Given the description of an element on the screen output the (x, y) to click on. 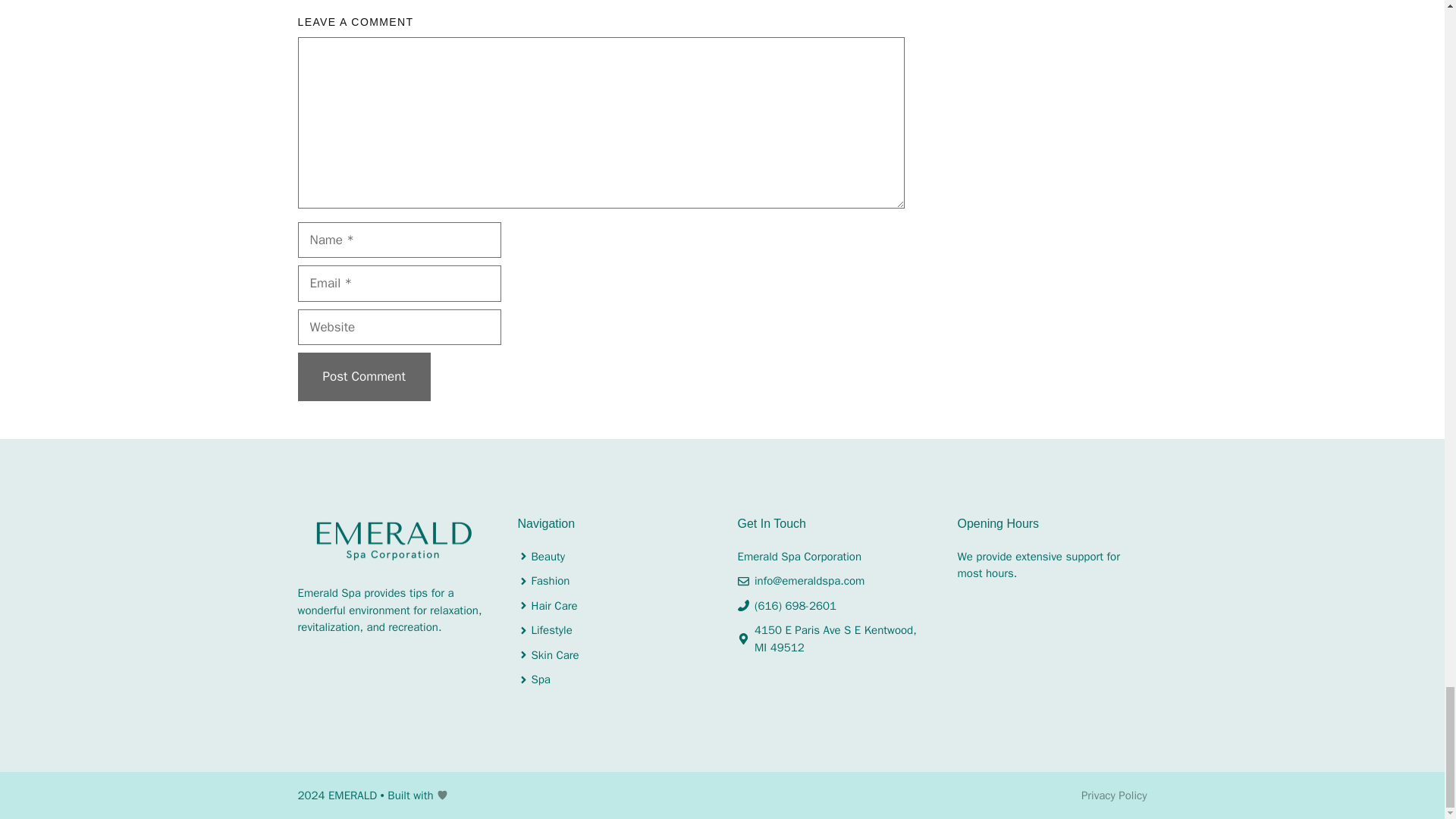
Post Comment (363, 376)
